Given the description of an element on the screen output the (x, y) to click on. 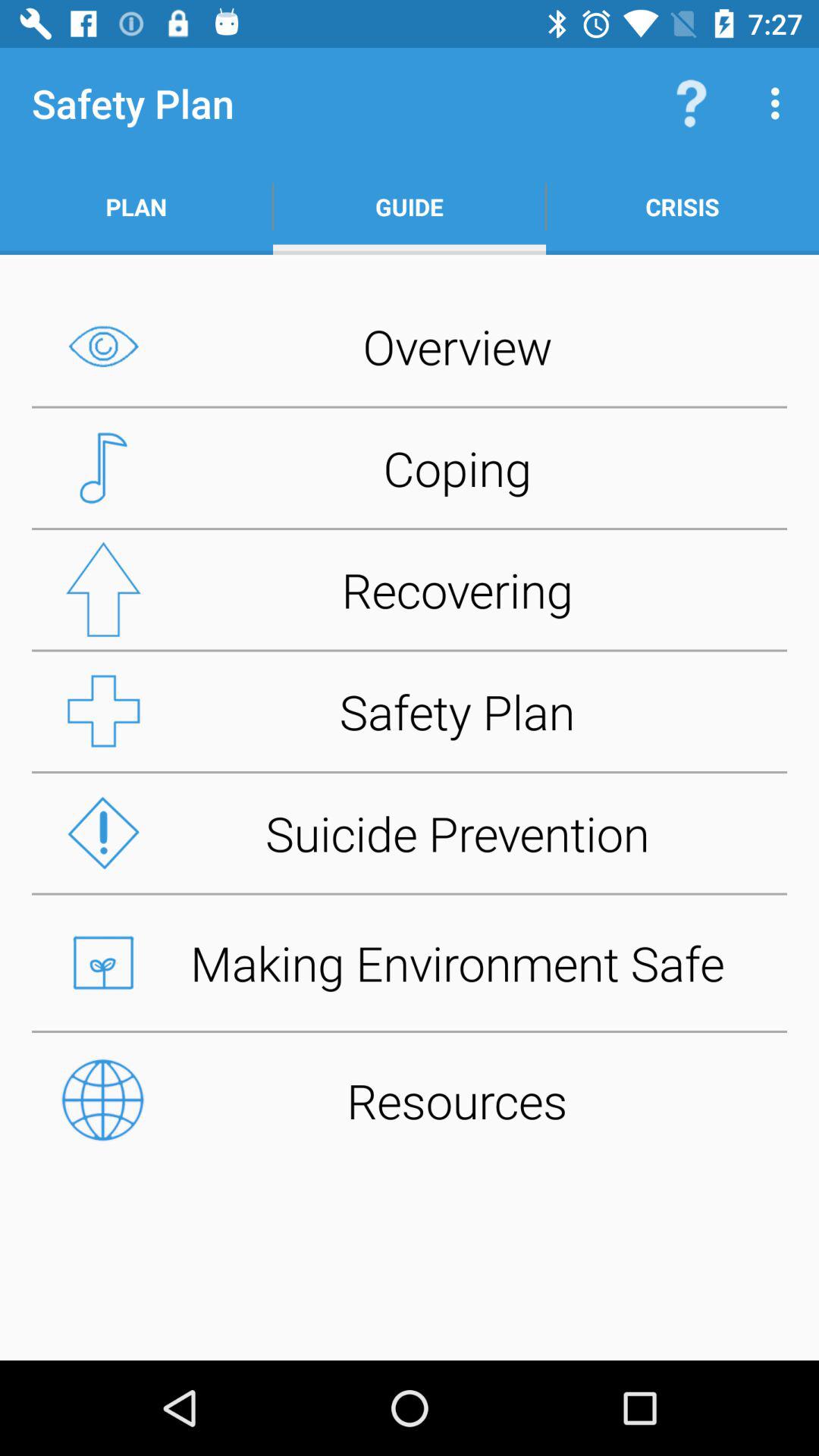
tap crisis (682, 206)
